Given the description of an element on the screen output the (x, y) to click on. 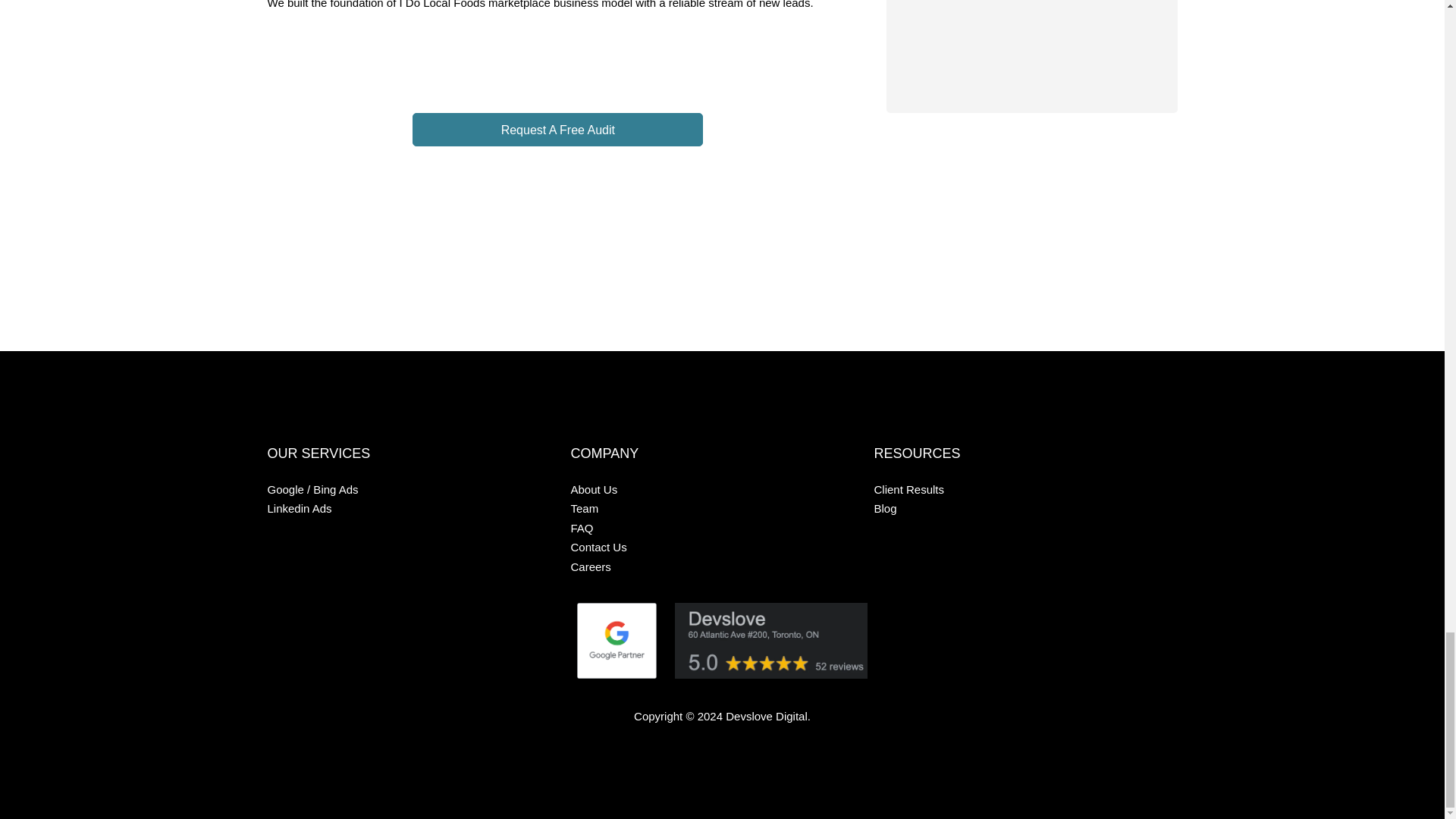
Contact Us (715, 547)
Careers (715, 567)
Request A Free Audit (557, 129)
Blog (1019, 508)
Team (715, 508)
Devslove Digital (766, 716)
About Us (715, 489)
Linkedin Ads (412, 508)
FAQ (715, 528)
Client Results (1019, 489)
